Given the description of an element on the screen output the (x, y) to click on. 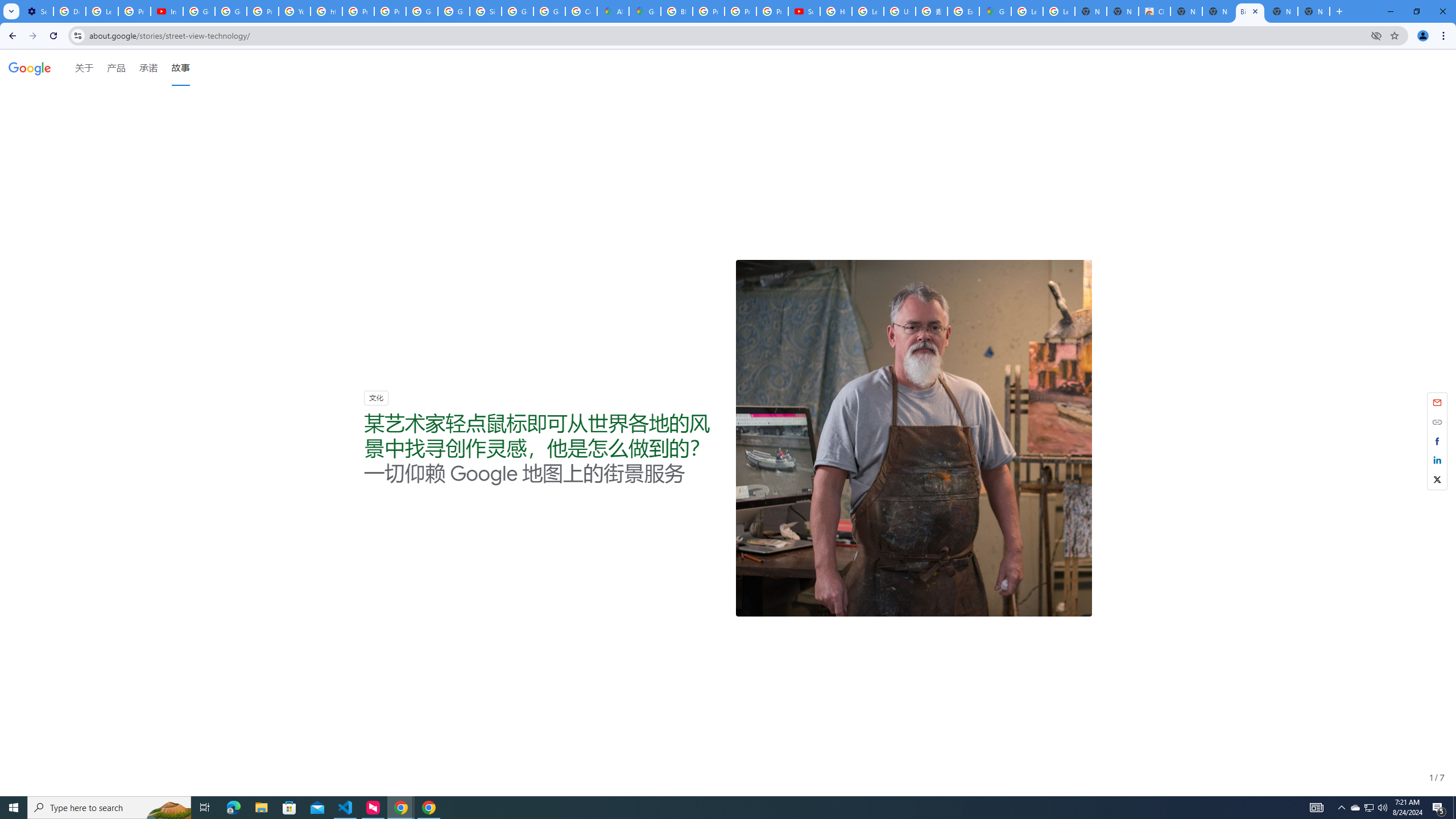
Introduction | Google Privacy Policy - YouTube (166, 11)
YouTube (294, 11)
Sign in - Google Accounts (485, 11)
Create your Google Account (581, 11)
Google (29, 70)
How Chrome protects your passwords - Google Chrome Help (836, 11)
Privacy Help Center - Policies Help (740, 11)
